Given the description of an element on the screen output the (x, y) to click on. 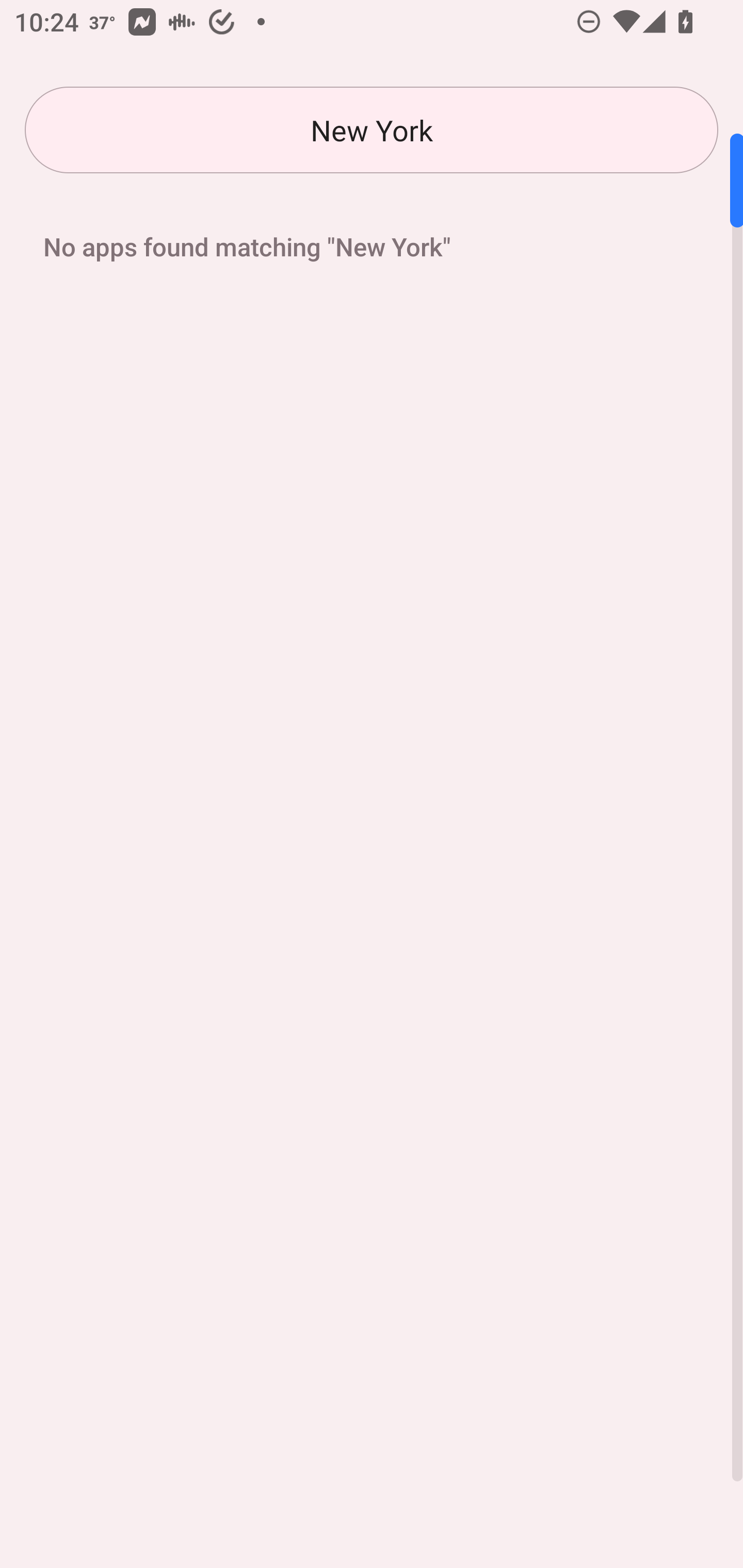
New York (371, 130)
